Given the description of an element on the screen output the (x, y) to click on. 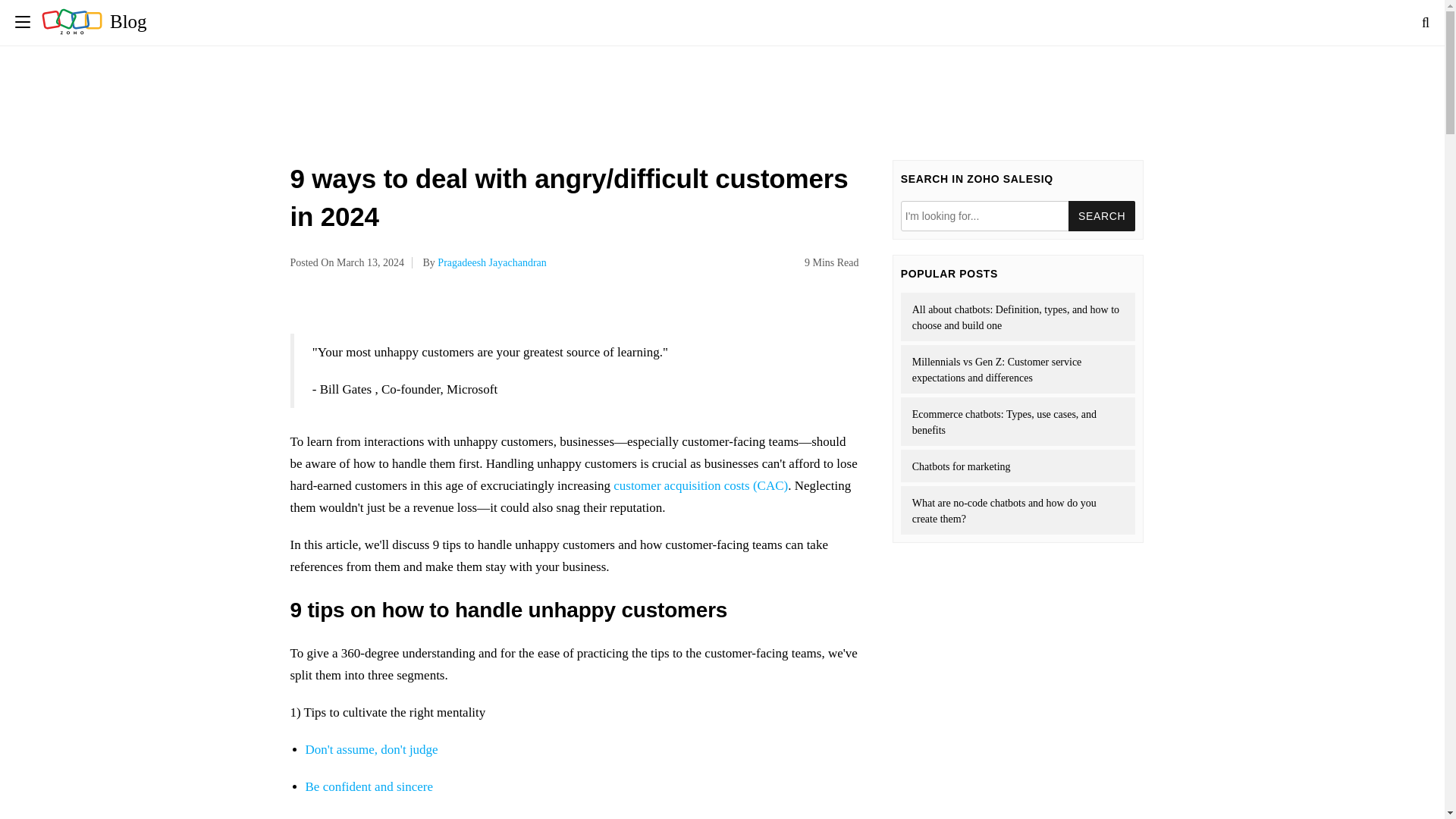
Search (1101, 215)
Blog (94, 21)
Chatbots for marketing (1018, 465)
Don't assume, don't judge (371, 749)
Be confident and sincere (368, 786)
What are no-code chatbots and how do you create them? (1018, 510)
Search (1101, 215)
Do a background check (365, 817)
Ecommerce chatbots: Types, use cases, and benefits (1018, 421)
